Given the description of an element on the screen output the (x, y) to click on. 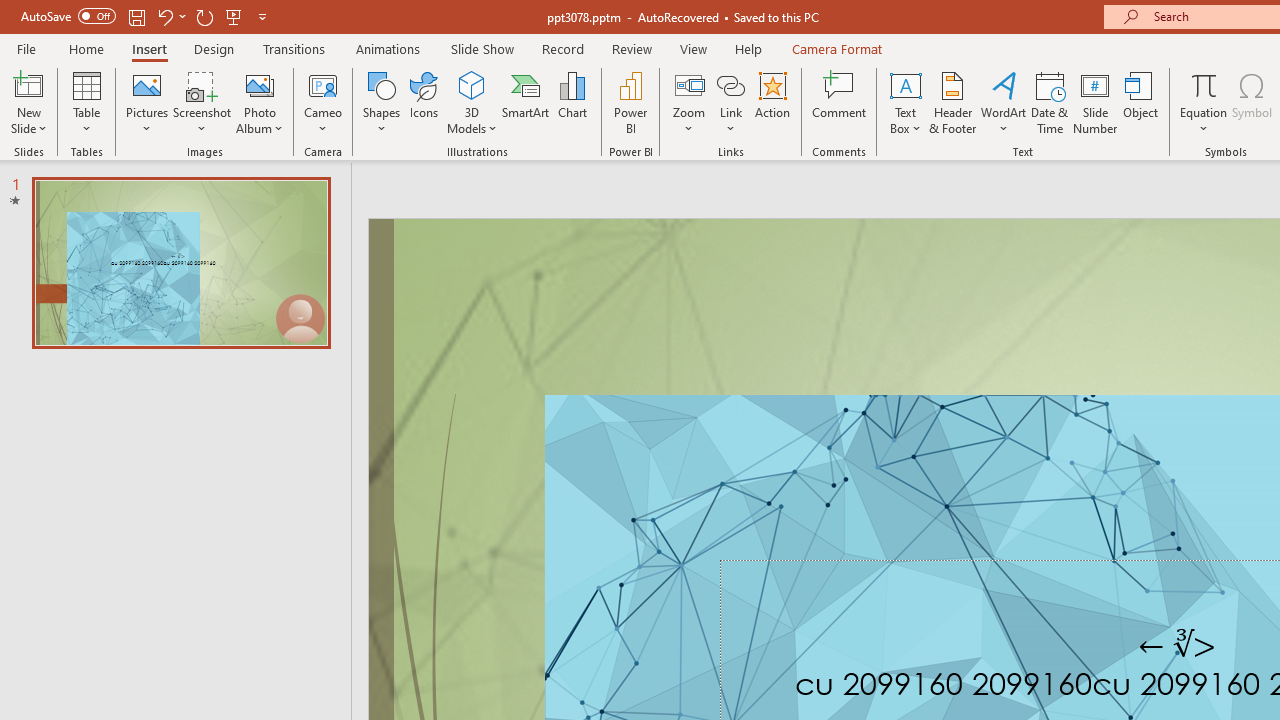
Symbol... (1252, 102)
WordArt (1004, 102)
Cameo (323, 102)
SmartArt... (525, 102)
New Photo Album... (259, 84)
Header & Footer... (952, 102)
Camera Format (836, 48)
Screenshot (202, 102)
